Given the description of an element on the screen output the (x, y) to click on. 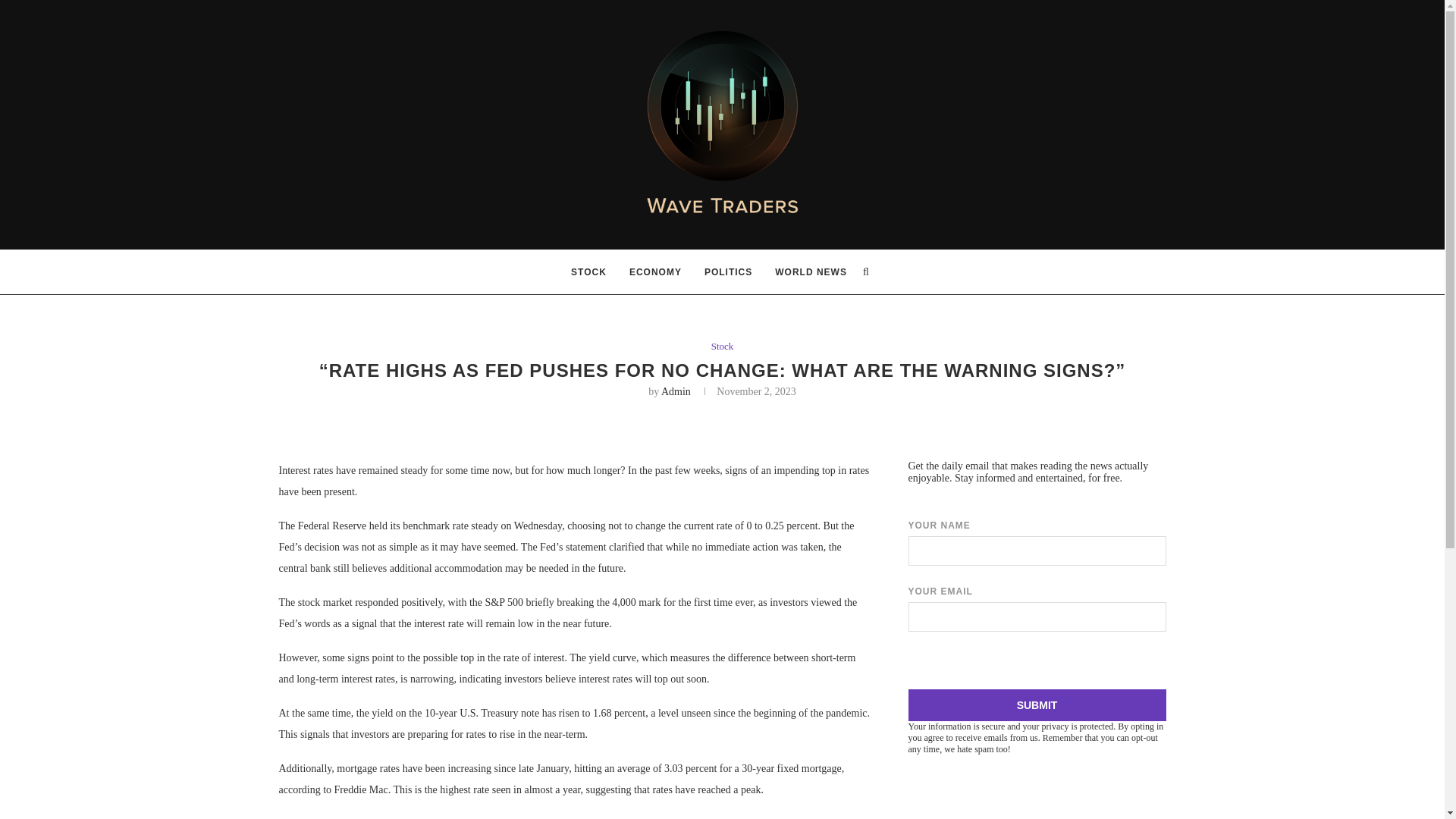
POLITICS (728, 272)
Stock (722, 346)
ECONOMY (654, 272)
WORLD NEWS (810, 272)
Admin (675, 391)
Submit (1037, 705)
